Given the description of an element on the screen output the (x, y) to click on. 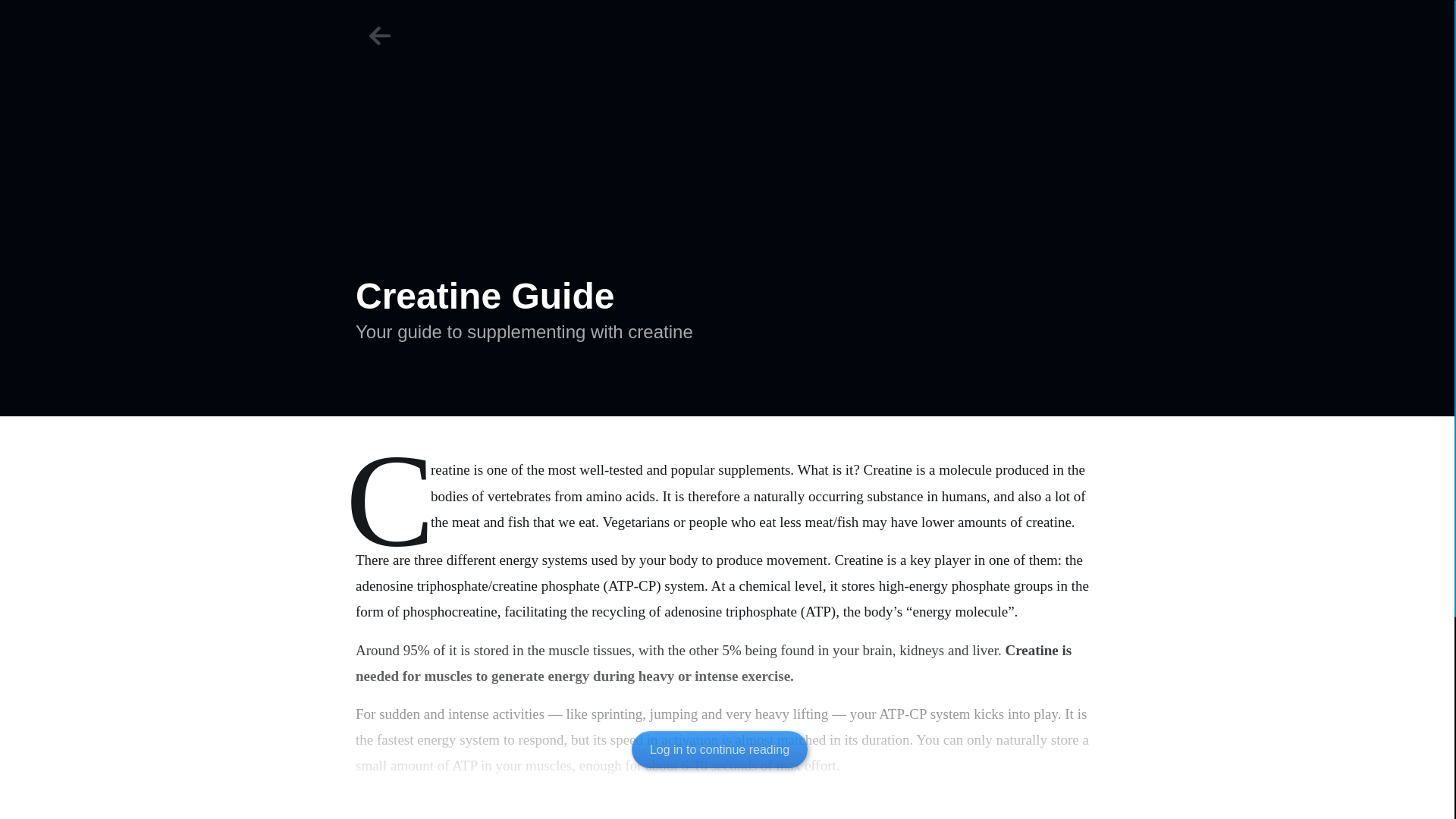
Log in to continue reading (719, 749)
